Given the description of an element on the screen output the (x, y) to click on. 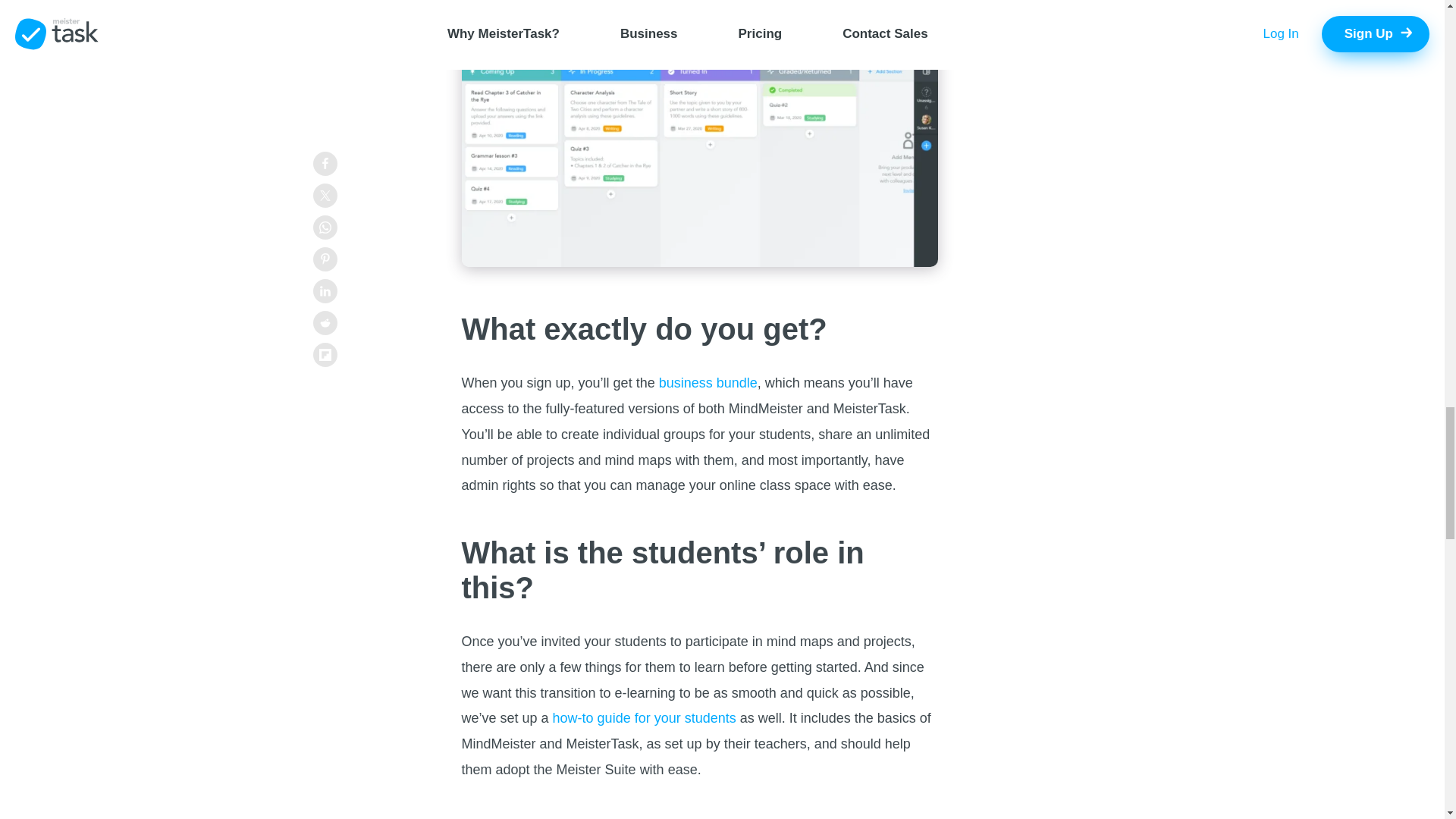
business bundle (708, 382)
how-to guide for your students (644, 717)
